Given the description of an element on the screen output the (x, y) to click on. 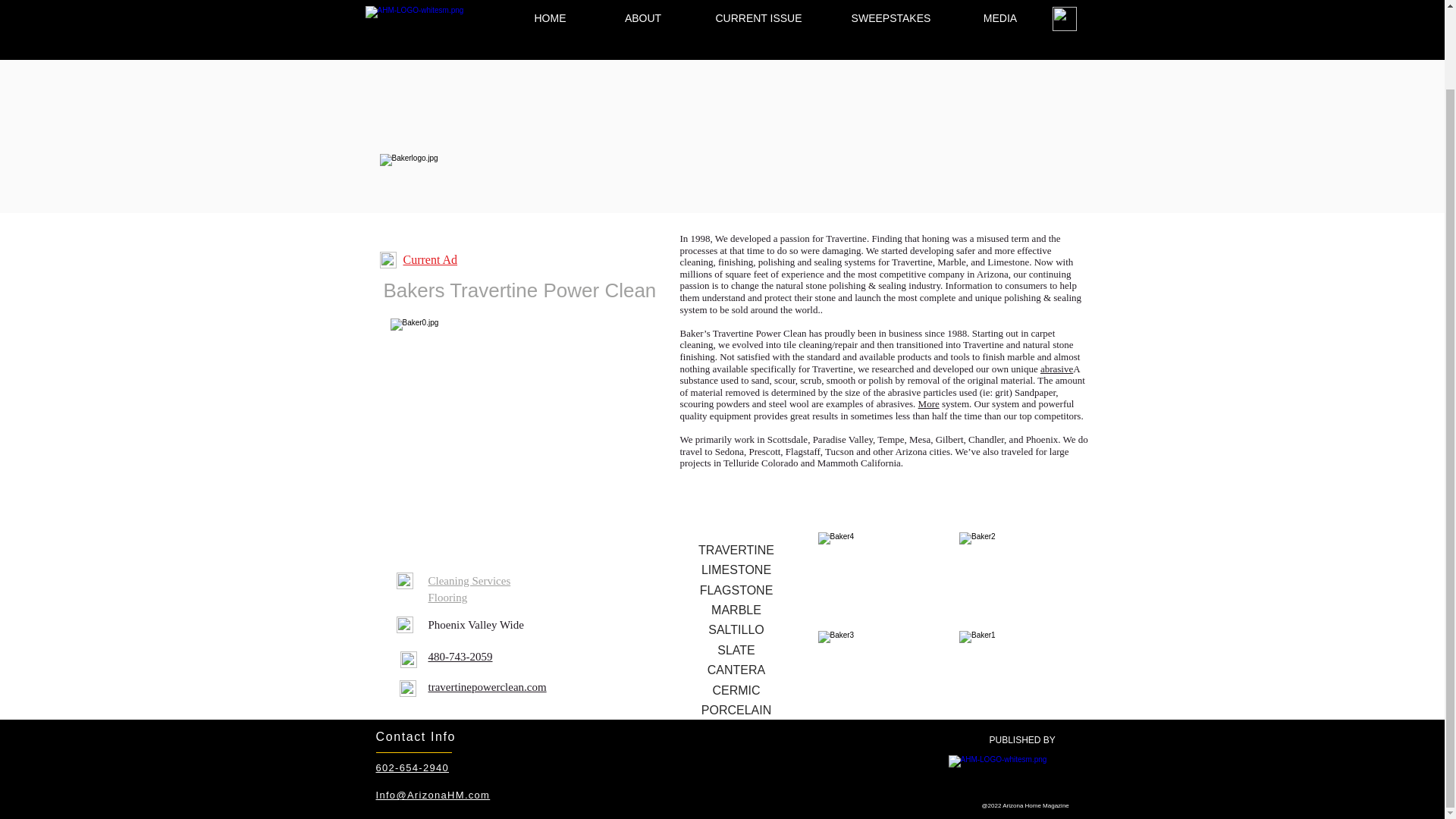
More (928, 403)
PHNg.png (408, 659)
travertinepowerclean.com (487, 686)
pages.png (387, 259)
locationG.png (404, 624)
abrasive (1057, 368)
Flooring (447, 597)
480-743-2059 (460, 656)
Cleaning Services (469, 581)
602-654-2940 (412, 767)
home.png (404, 580)
Current Ad (430, 259)
